Given the description of an element on the screen output the (x, y) to click on. 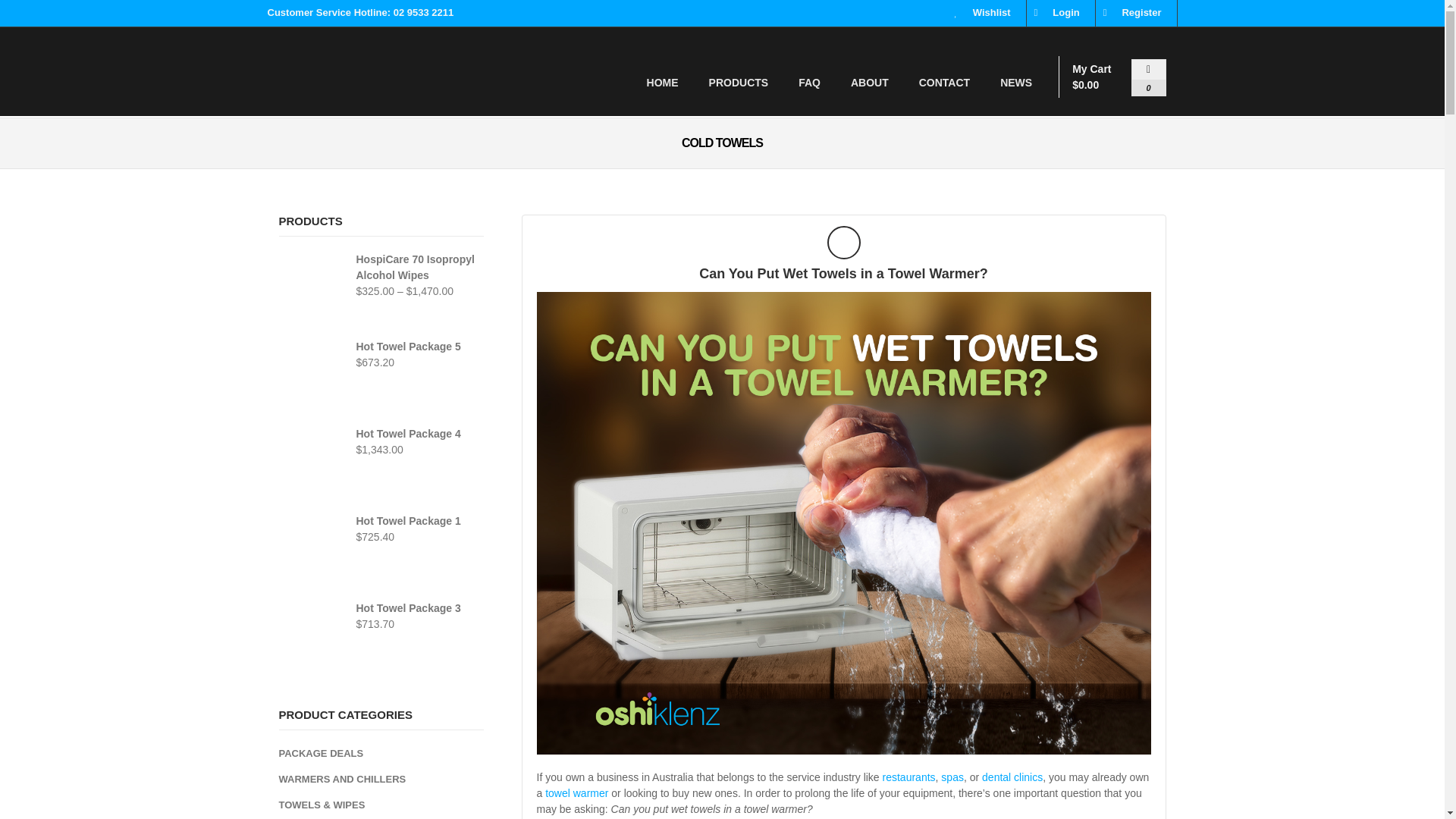
Wishlist (991, 12)
CONTACT (944, 82)
towel warmer (576, 793)
ABOUT (869, 82)
PRODUCTS (739, 82)
FAQ (809, 82)
Login (1065, 12)
restaurants (909, 776)
HOME (662, 82)
Can You Put Wet Towels in a Towel Warmer? (843, 273)
